Given the description of an element on the screen output the (x, y) to click on. 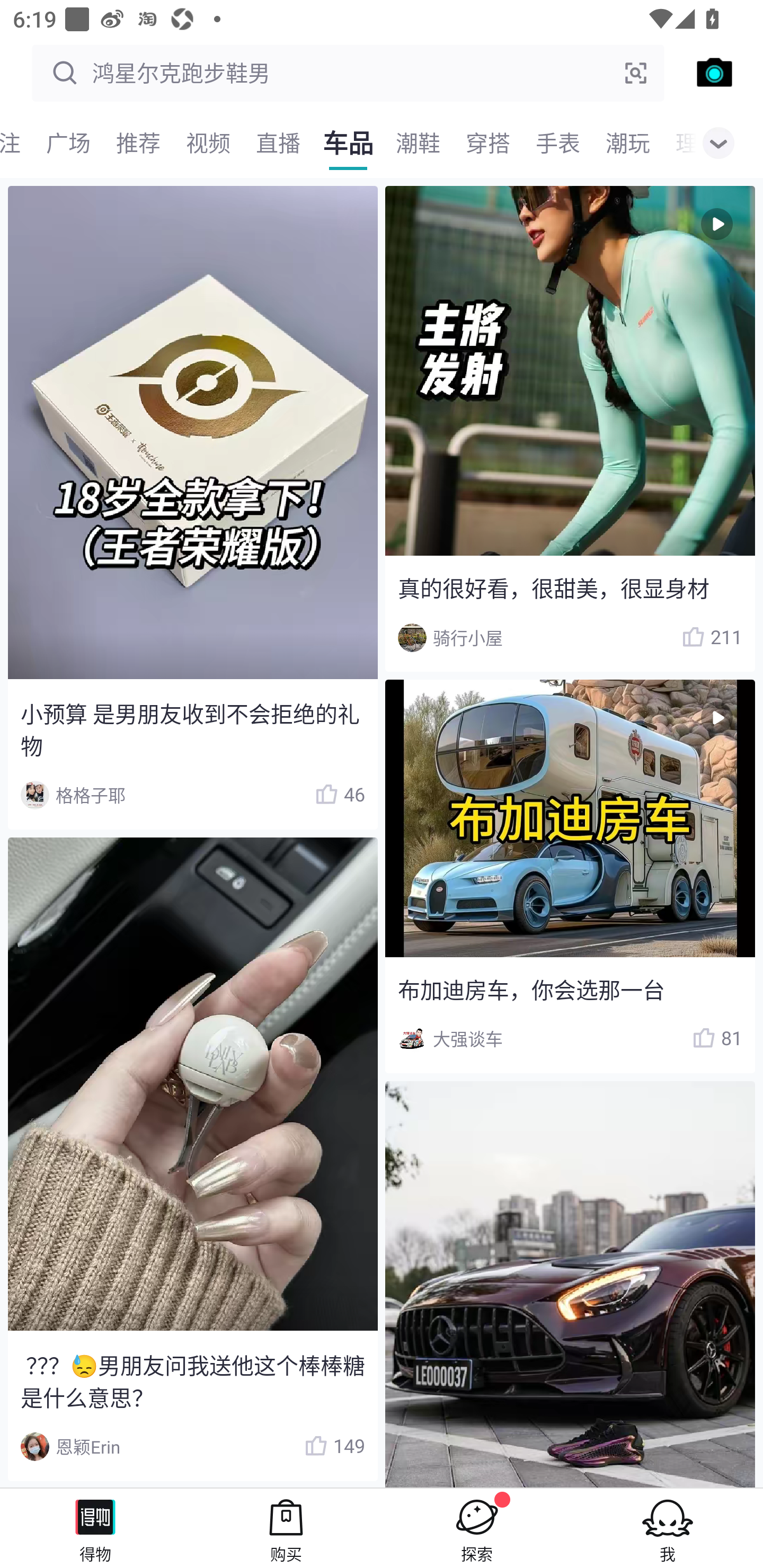
鸿星尔克跑步鞋男 (348, 72)
广场 (68, 143)
推荐 (138, 143)
视频 (208, 143)
直播 (277, 143)
车品 (347, 143)
潮鞋 (418, 143)
穿搭 (487, 143)
手表 (557, 143)
潮玩 (627, 143)
小预算 是男朋友收到不会拒绝的礼物 格格子耶 46 (192, 507)
真的很好看，很甜美，很显身材 骑行小屋 211 (570, 428)
布加迪房车，你会选那一台 大强谈车 81 (570, 875)
 ？？？😓男朋友问我送他这个棒棒糖是什么意思？  恩颖Erin 149 (192, 1159)
得物 (95, 1528)
购买 (285, 1528)
探索 (476, 1528)
我 (667, 1528)
